Given the description of an element on the screen output the (x, y) to click on. 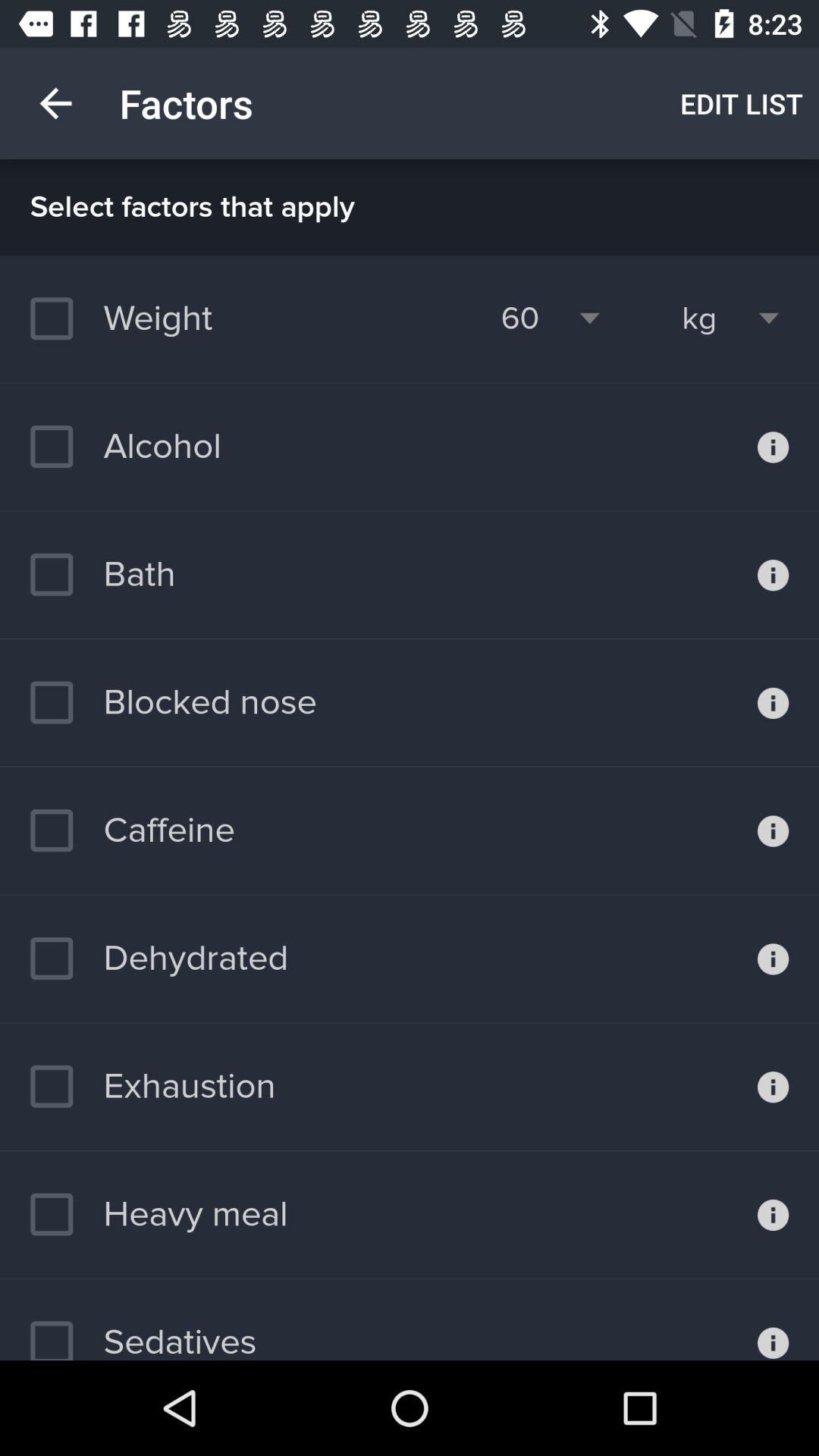
choose the icon above the bath item (125, 446)
